Given the description of an element on the screen output the (x, y) to click on. 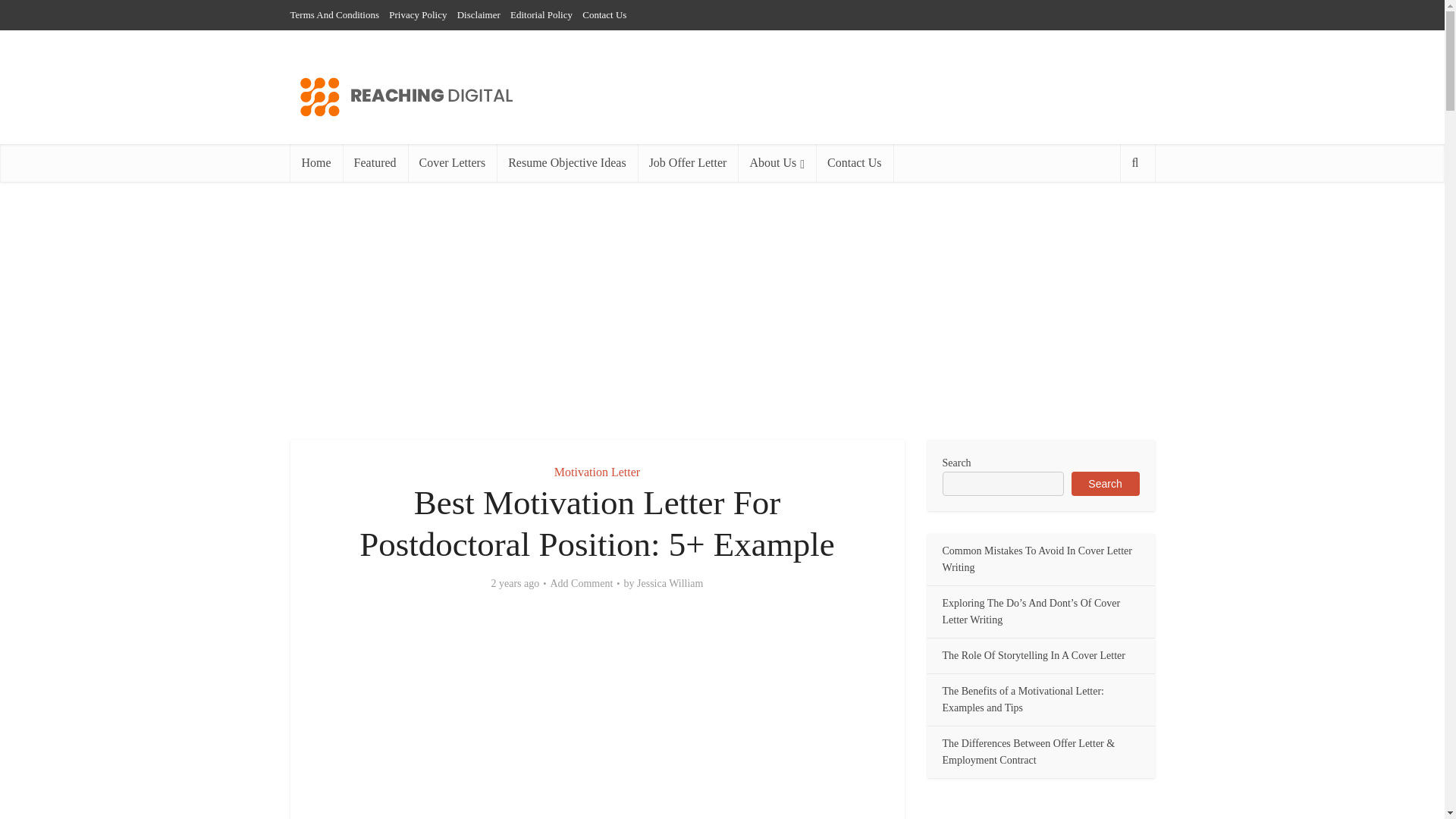
Advertisement (721, 310)
Jessica William (670, 583)
Terms And Conditions (333, 14)
Editorial Policy (541, 14)
Job Offer Letter (687, 162)
Privacy Policy (417, 14)
Add Comment (581, 583)
Motivation Letter (597, 472)
Resume Objective Ideas (566, 162)
About Us (776, 162)
